Given the description of an element on the screen output the (x, y) to click on. 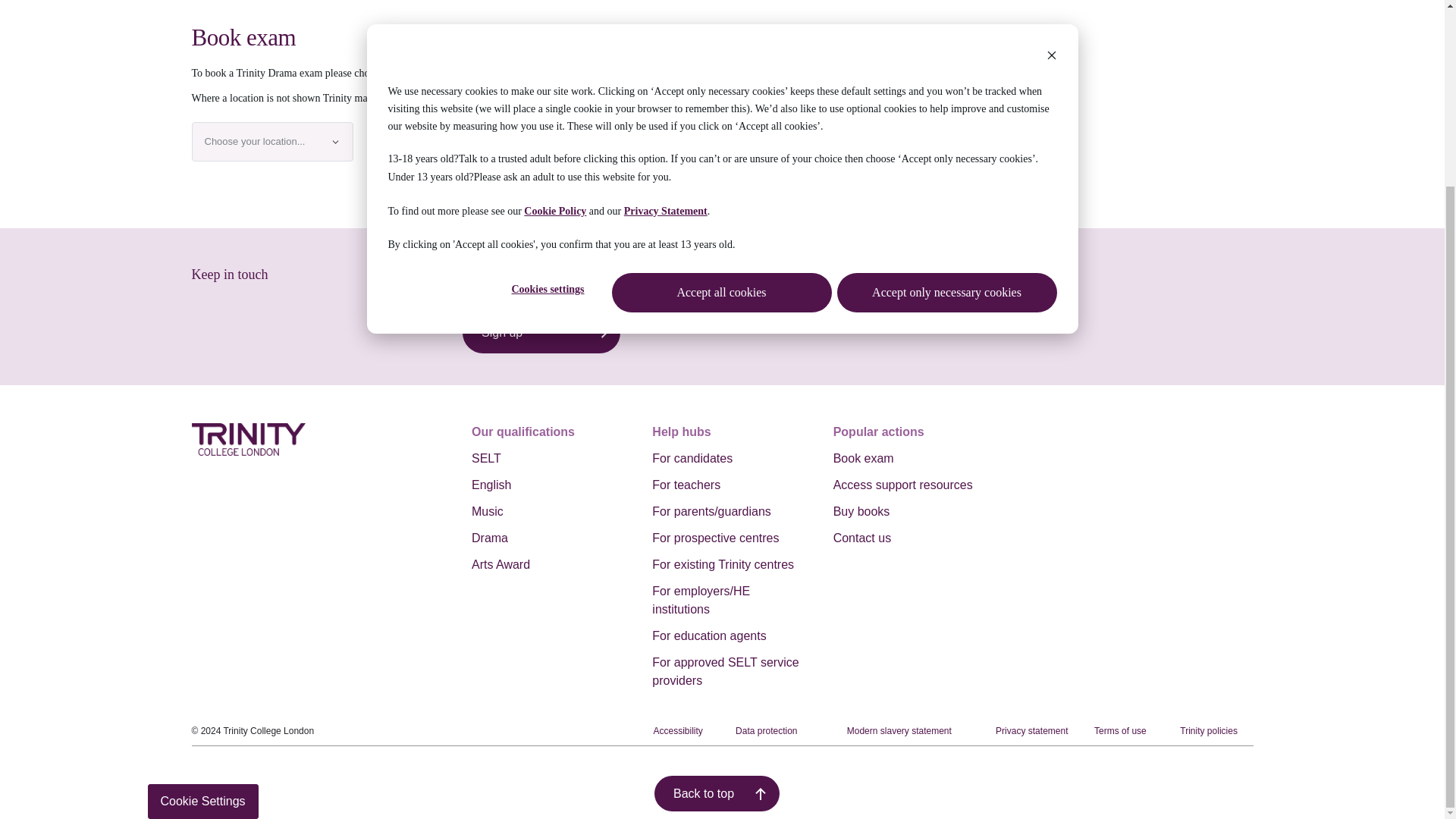
Back to top (715, 642)
